Given the description of an element on the screen output the (x, y) to click on. 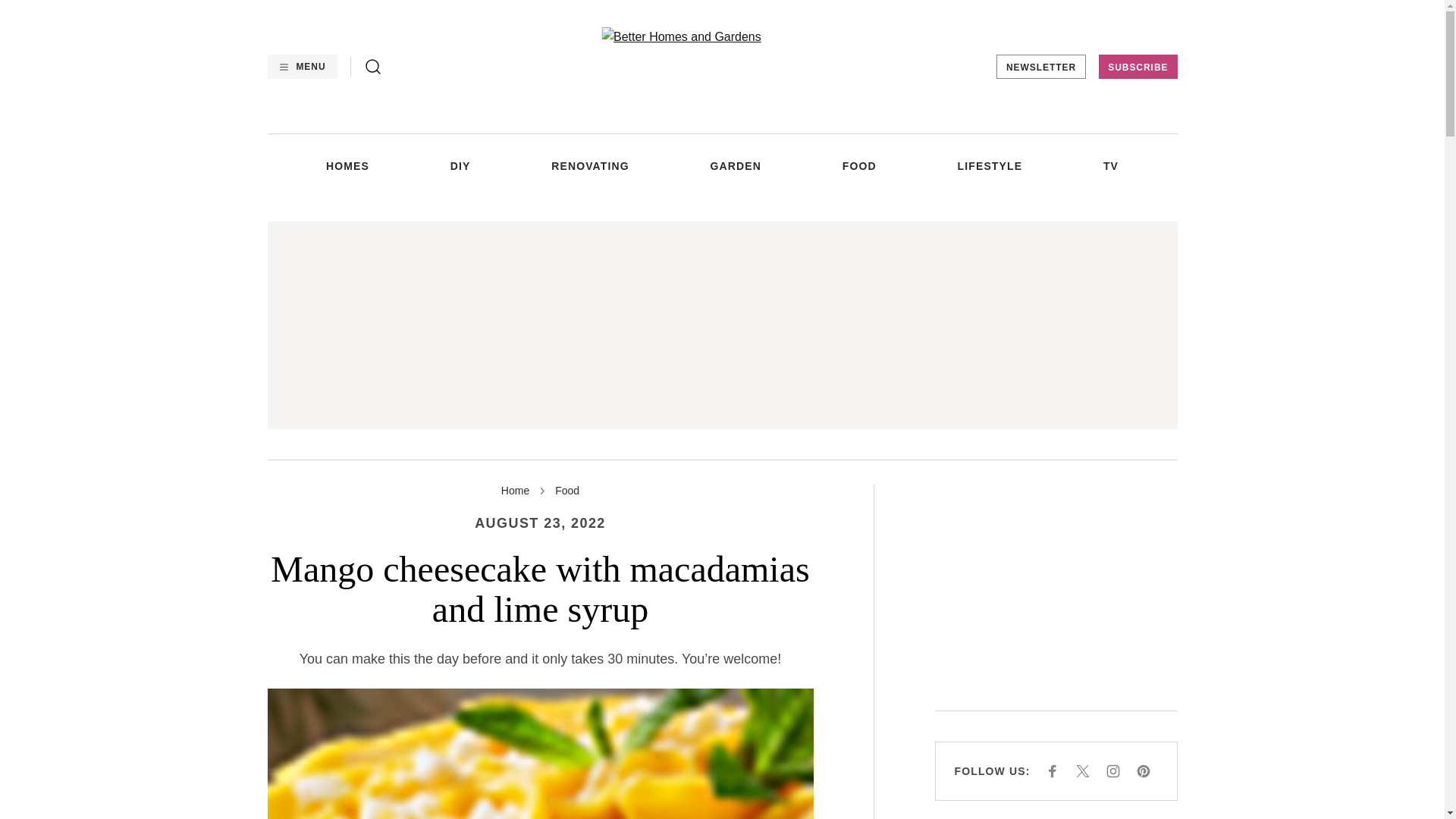
FOOD (859, 165)
DIY (459, 165)
NEWSLETTER (1040, 66)
RENOVATING (589, 165)
HOMES (347, 165)
MENU (301, 66)
GARDEN (735, 165)
TV (1110, 165)
SUBSCRIBE (1137, 66)
LIFESTYLE (990, 165)
